Given the description of an element on the screen output the (x, y) to click on. 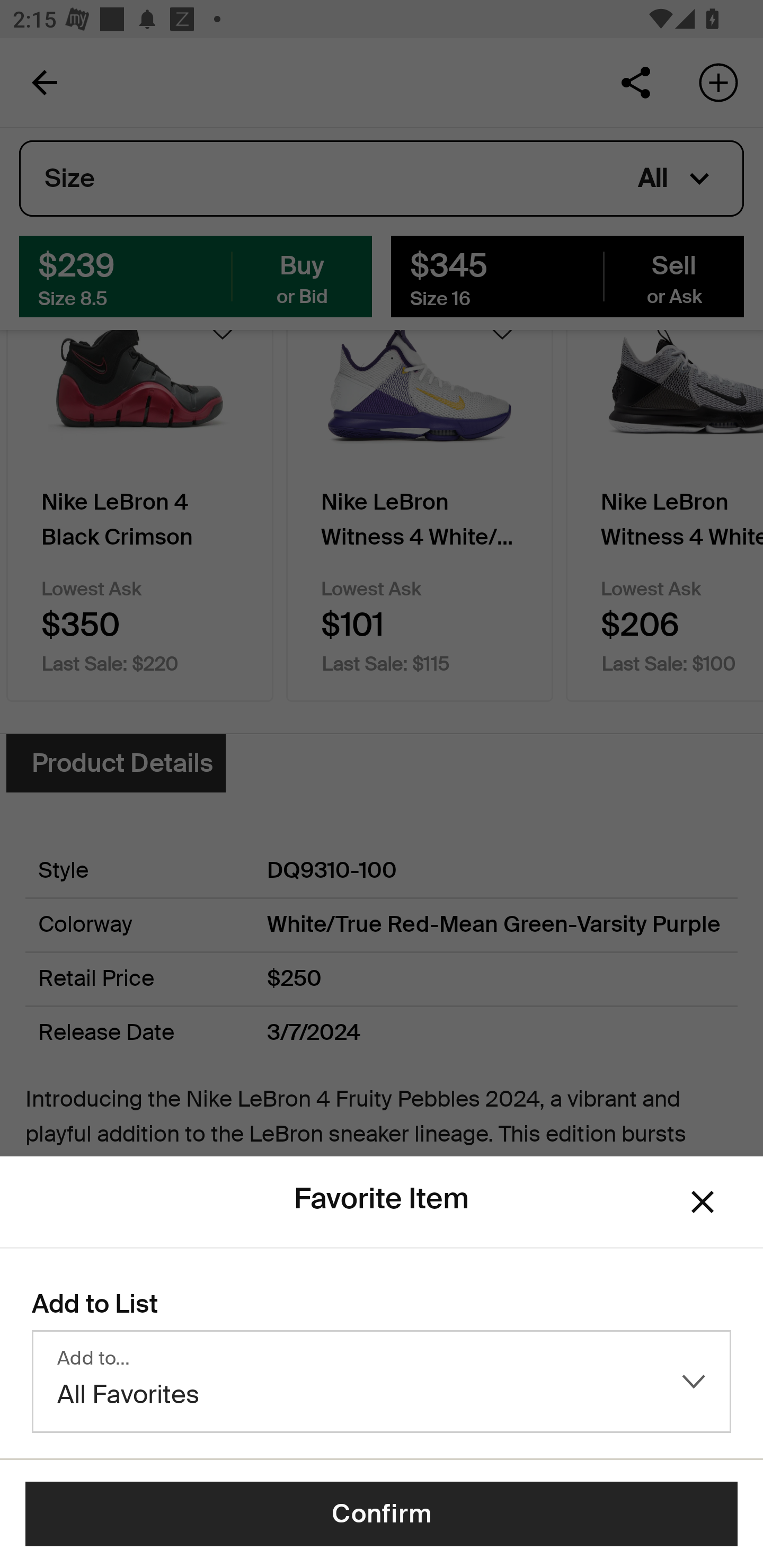
Dismiss (702, 1201)
Add to… All Favorites (381, 1381)
Confirm (381, 1513)
